Given the description of an element on the screen output the (x, y) to click on. 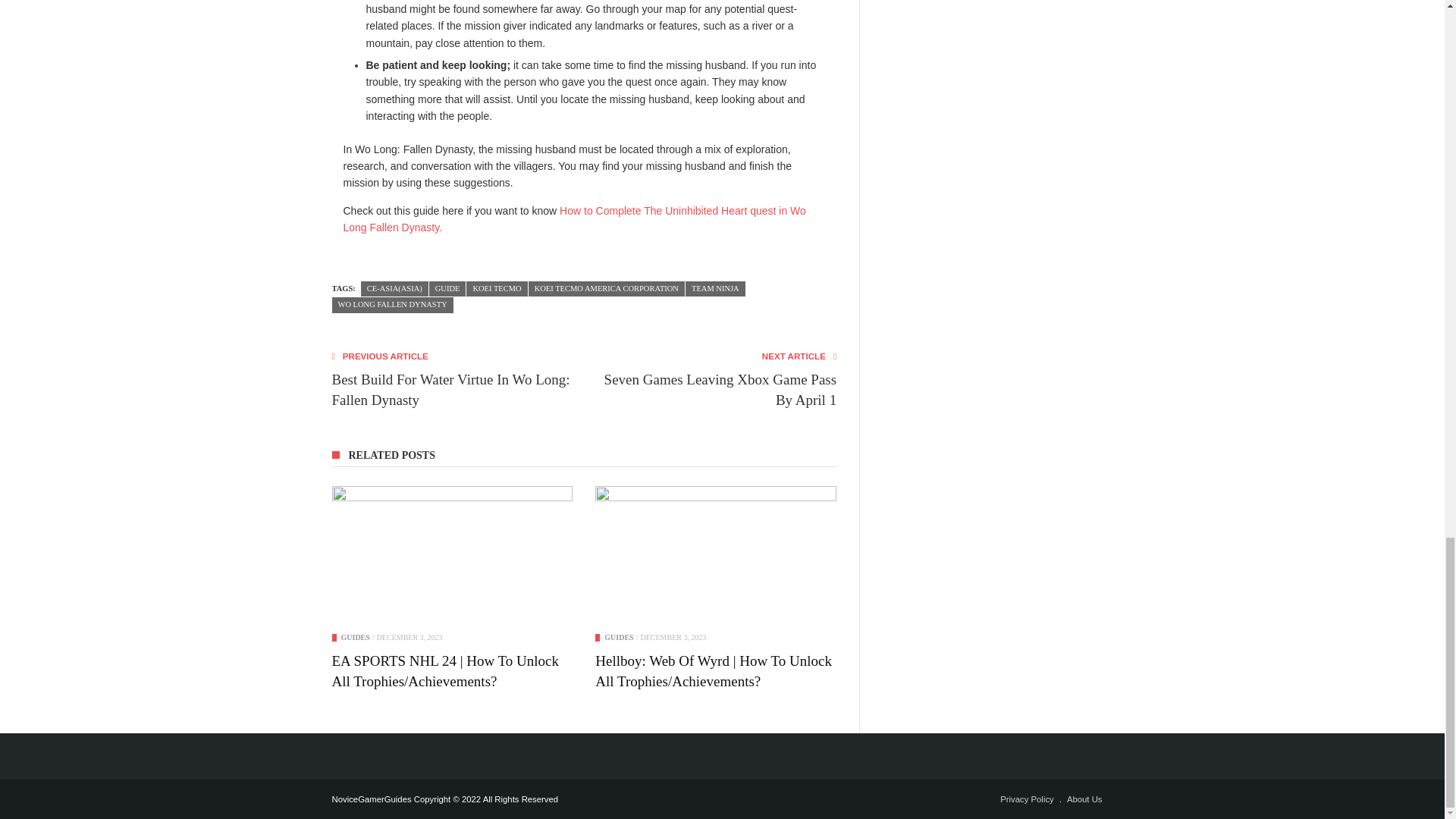
Best Build For Water Virtue In Wo Long: Fallen Dynasty (452, 389)
TEAM NINJA (715, 289)
KOEI TECMO AMERICA Corporation (606, 289)
KOEI TECMO (496, 289)
Team Ninja (715, 289)
Seven Games Leaving Xbox Game Pass By April 1 (715, 389)
Wo Long Fallen Dynasty (391, 304)
guide (447, 289)
Koei Tecmo (496, 289)
KOEI TECMO AMERICA CORPORATION (606, 289)
GUIDE (447, 289)
WO LONG FALLEN DYNASTY (391, 304)
